Given the description of an element on the screen output the (x, y) to click on. 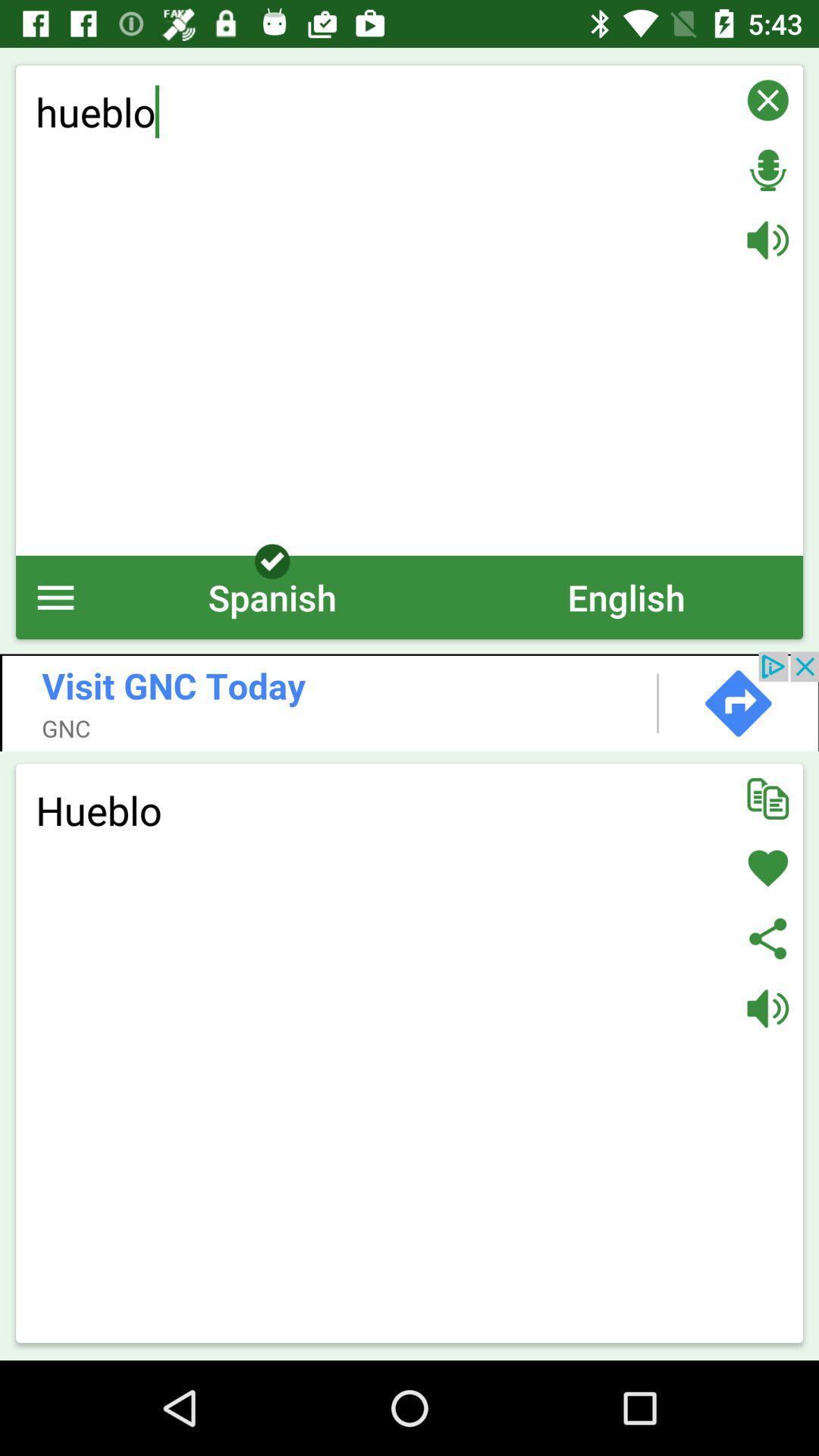
press item next to the english item (272, 597)
